Given the description of an element on the screen output the (x, y) to click on. 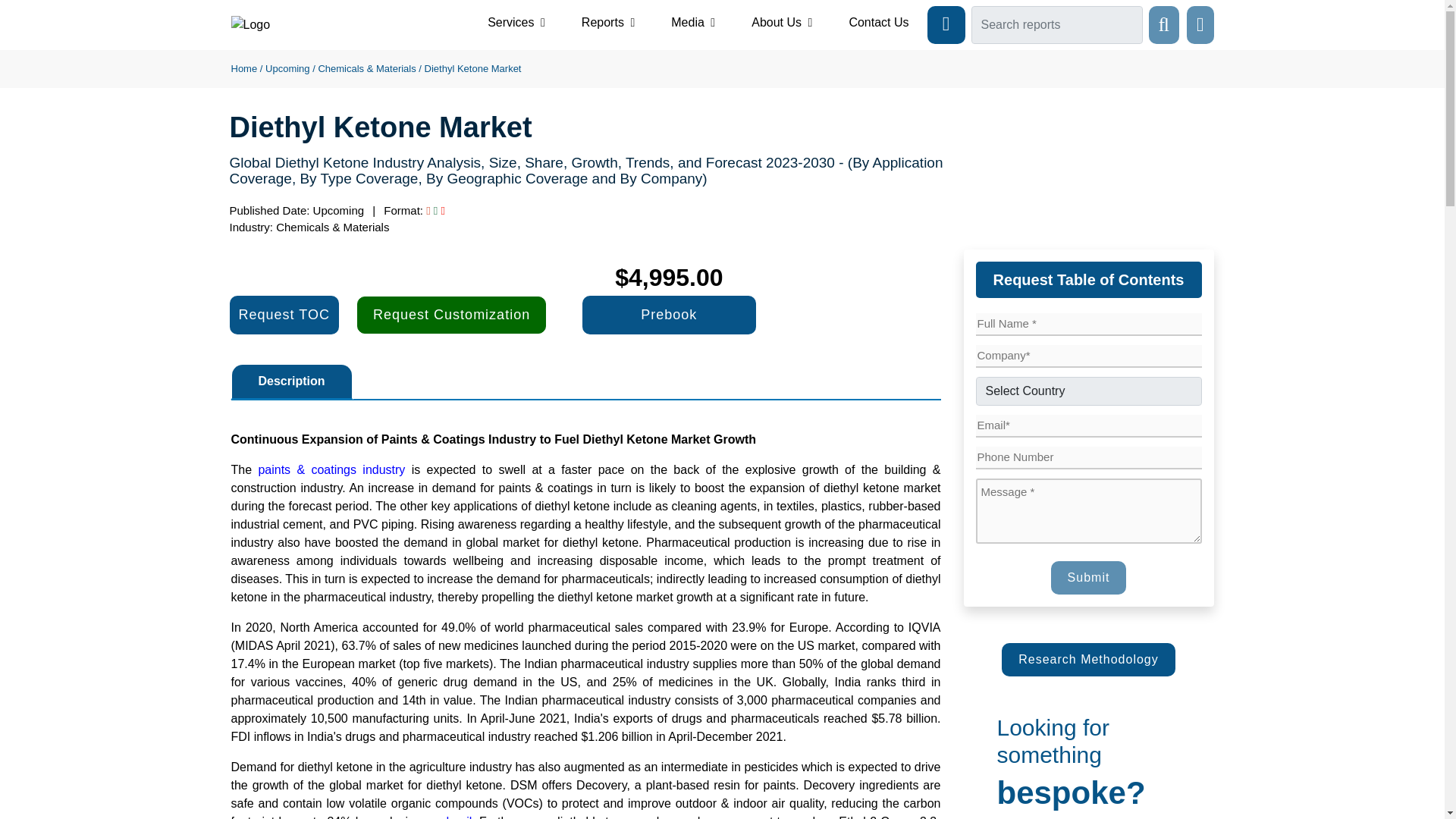
Home (243, 68)
Request Customization (451, 314)
Services (515, 22)
Contact Us (877, 22)
Diethyl Ketone Market (473, 68)
Description (291, 381)
Request TOC (282, 314)
Reports (607, 22)
About Us (781, 22)
Media (692, 22)
